Given the description of an element on the screen output the (x, y) to click on. 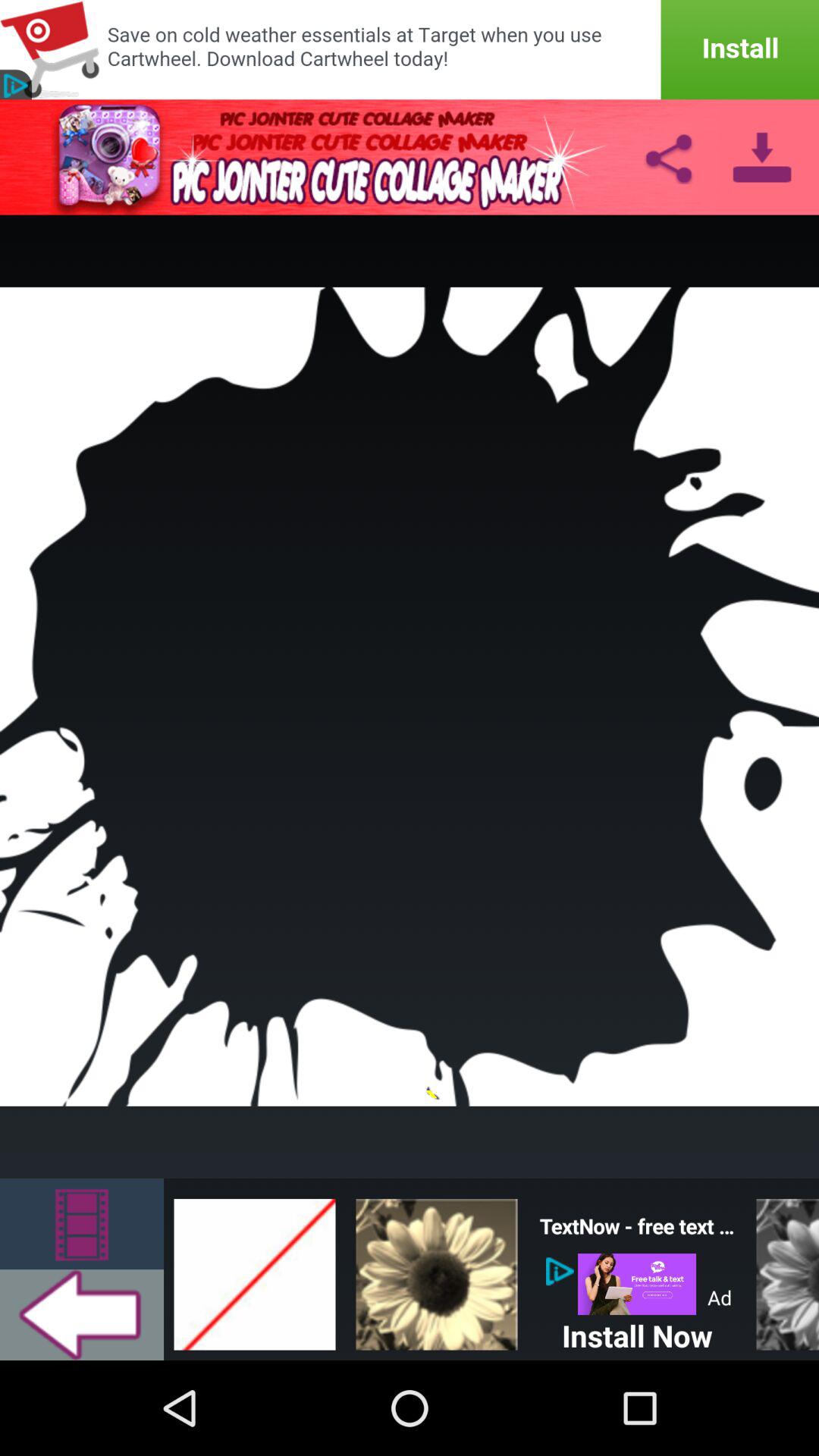
show photo (436, 1269)
